Given the description of an element on the screen output the (x, y) to click on. 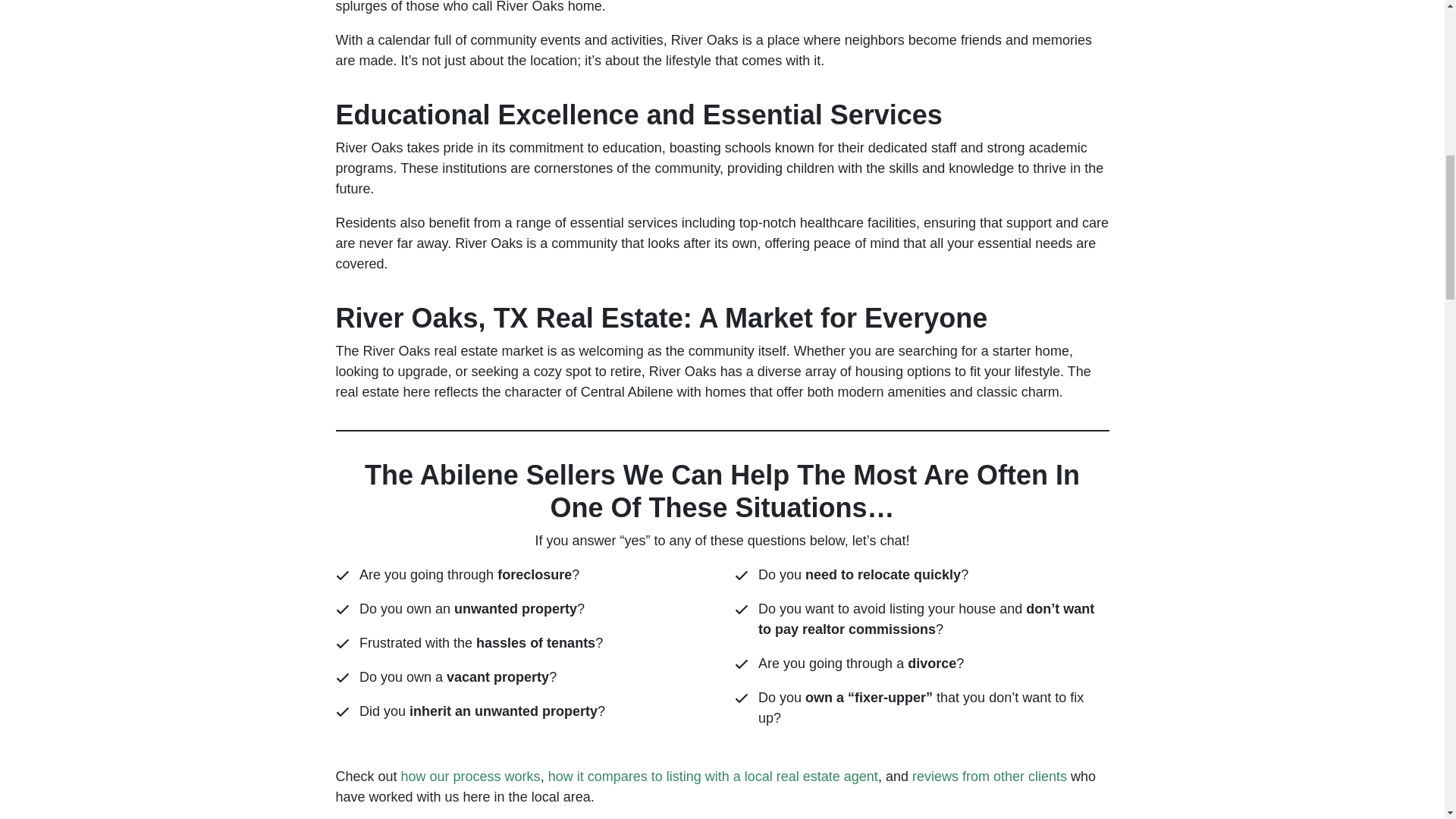
how our process works (470, 776)
reviews from other clients (989, 776)
how it compares to listing with a local real estate agent (712, 776)
